Given the description of an element on the screen output the (x, y) to click on. 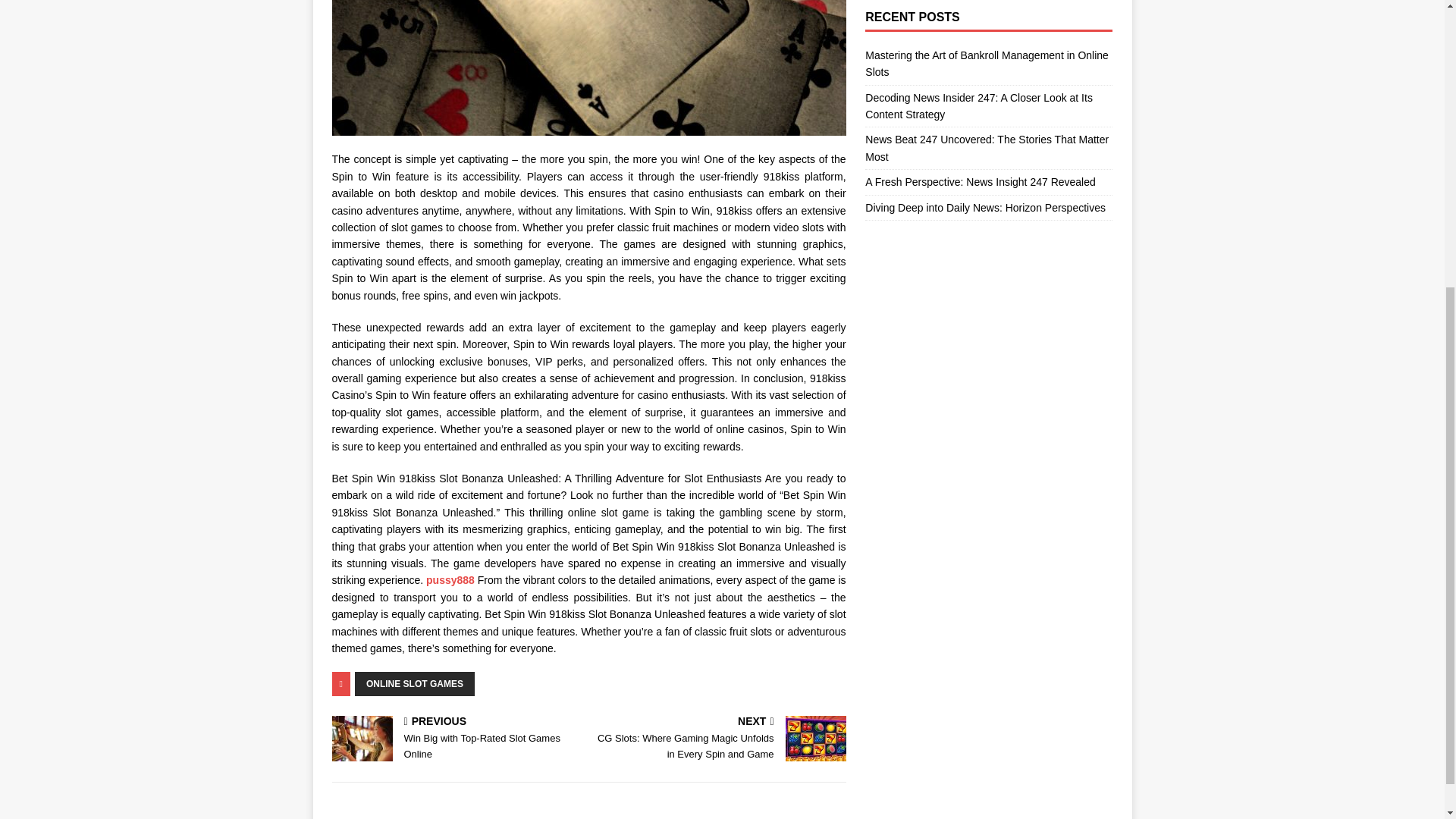
ONLINE SLOT GAMES (414, 683)
A Fresh Perspective: News Insight 247 Revealed (980, 182)
pussy888 (450, 580)
Diving Deep into Daily News: Horizon Perspectives (984, 207)
News Beat 247 Uncovered: The Stories That Matter Most (457, 738)
Mastering the Art of Bankroll Management in Online Slots (986, 147)
